Given the description of an element on the screen output the (x, y) to click on. 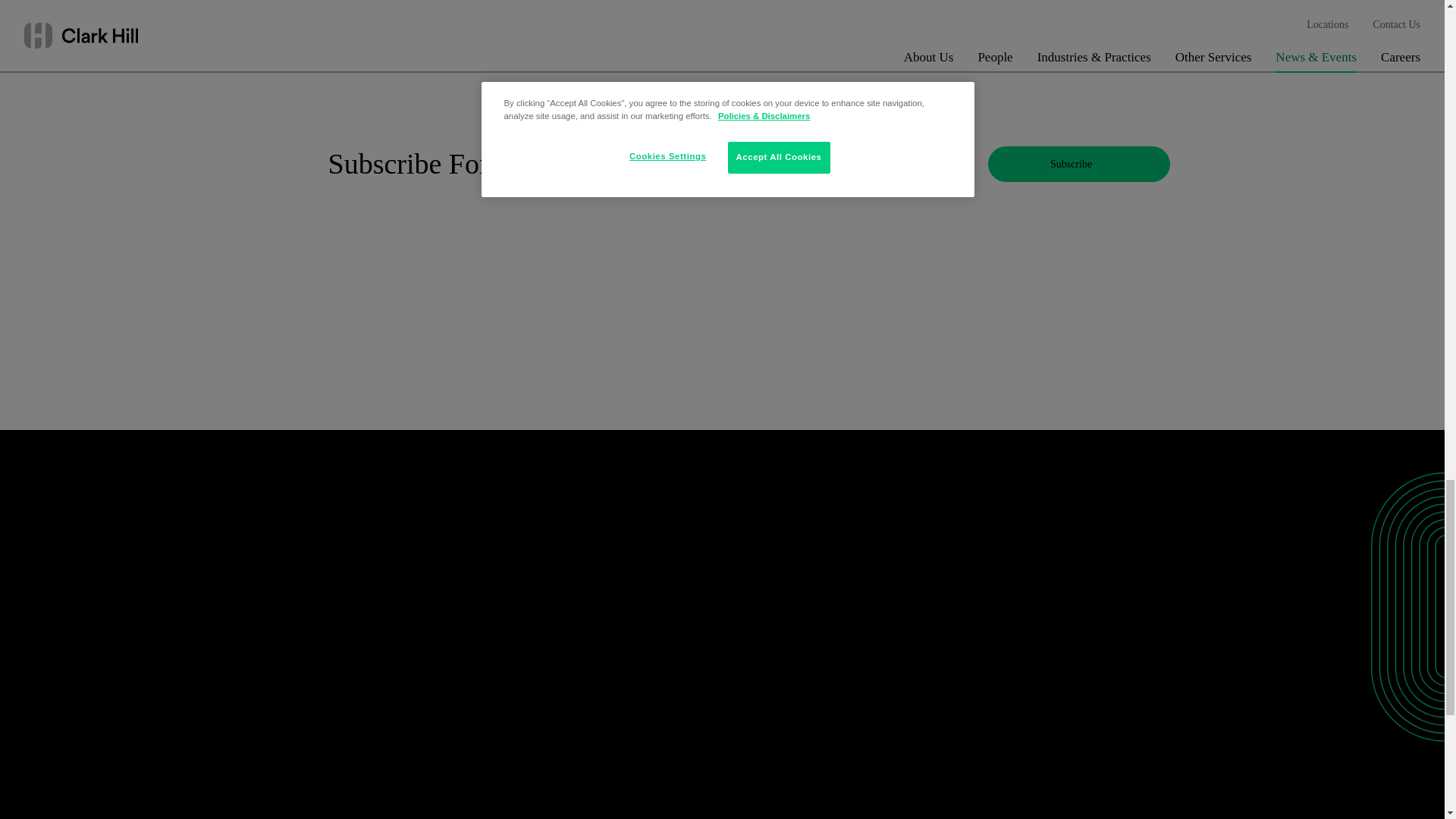
Subscribe (1078, 163)
